Given the description of an element on the screen output the (x, y) to click on. 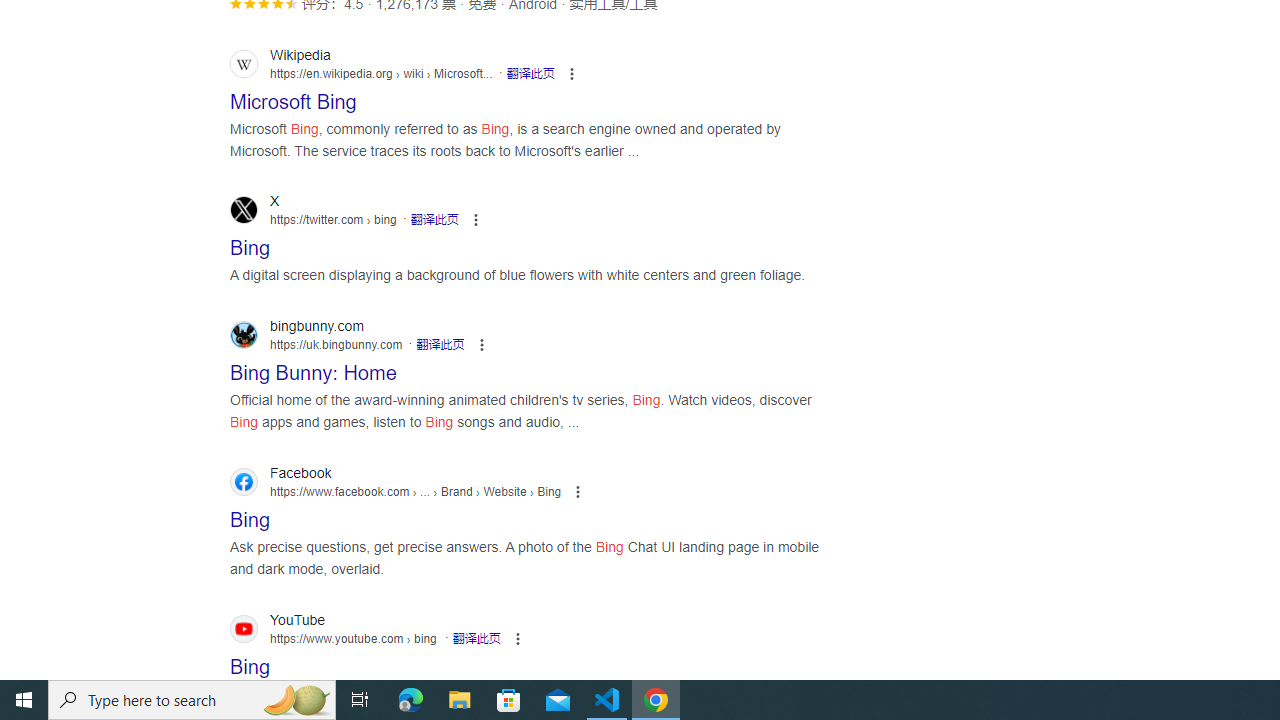
 Bing Bunny: Home bingbunny.com https://uk.bingbunny.com (313, 367)
